Given the description of an element on the screen output the (x, y) to click on. 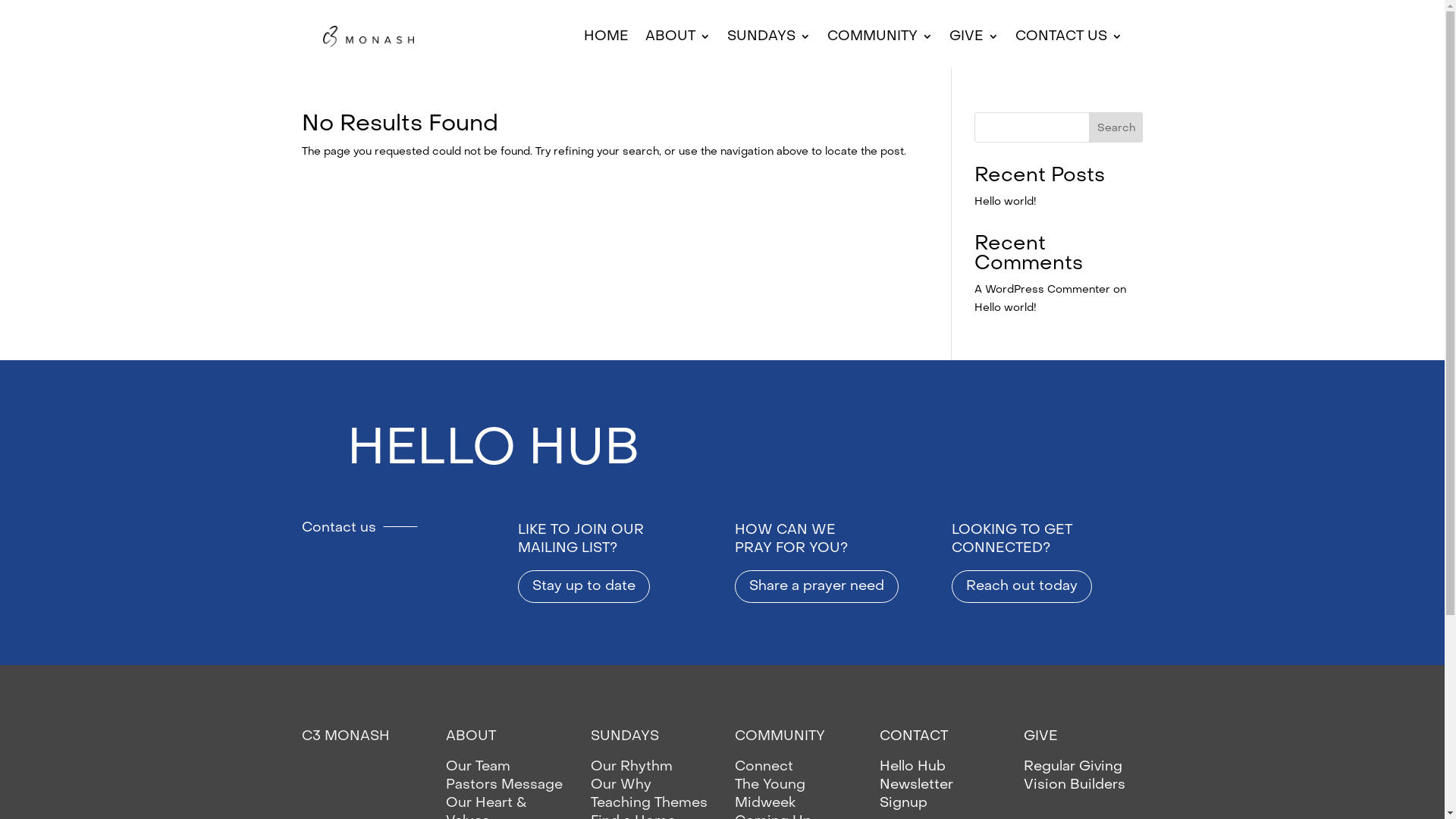
Pastors Message Element type: text (503, 784)
Our Team Element type: text (477, 766)
Reach out today Element type: text (1021, 586)
Share a prayer need Element type: text (816, 586)
Hello world! Element type: text (1005, 201)
COMMUNITY Element type: text (878, 36)
Search Element type: text (1115, 127)
HOME Element type: text (605, 36)
ABOUT Element type: text (470, 735)
Our Why Element type: text (620, 784)
Midweek Element type: text (764, 802)
Hello world! Element type: text (1005, 307)
Our Rhythm Element type: text (631, 766)
A WordPress Commenter Element type: text (1042, 289)
Teaching Themes Element type: text (648, 802)
C3 MONASH Element type: text (345, 735)
The Young Element type: text (769, 784)
Stay up to date Element type: text (583, 586)
SUNDAYS Element type: text (767, 36)
GIVE Element type: text (1040, 735)
SUNDAYS Element type: text (624, 735)
COMMUNITY Element type: text (779, 735)
Connect Element type: text (763, 766)
Vision Builders Element type: text (1074, 784)
Regular Giving  Element type: text (1074, 766)
GIVE Element type: text (973, 36)
CONTACT US Element type: text (1067, 36)
ABOUT Element type: text (676, 36)
